Given the description of an element on the screen output the (x, y) to click on. 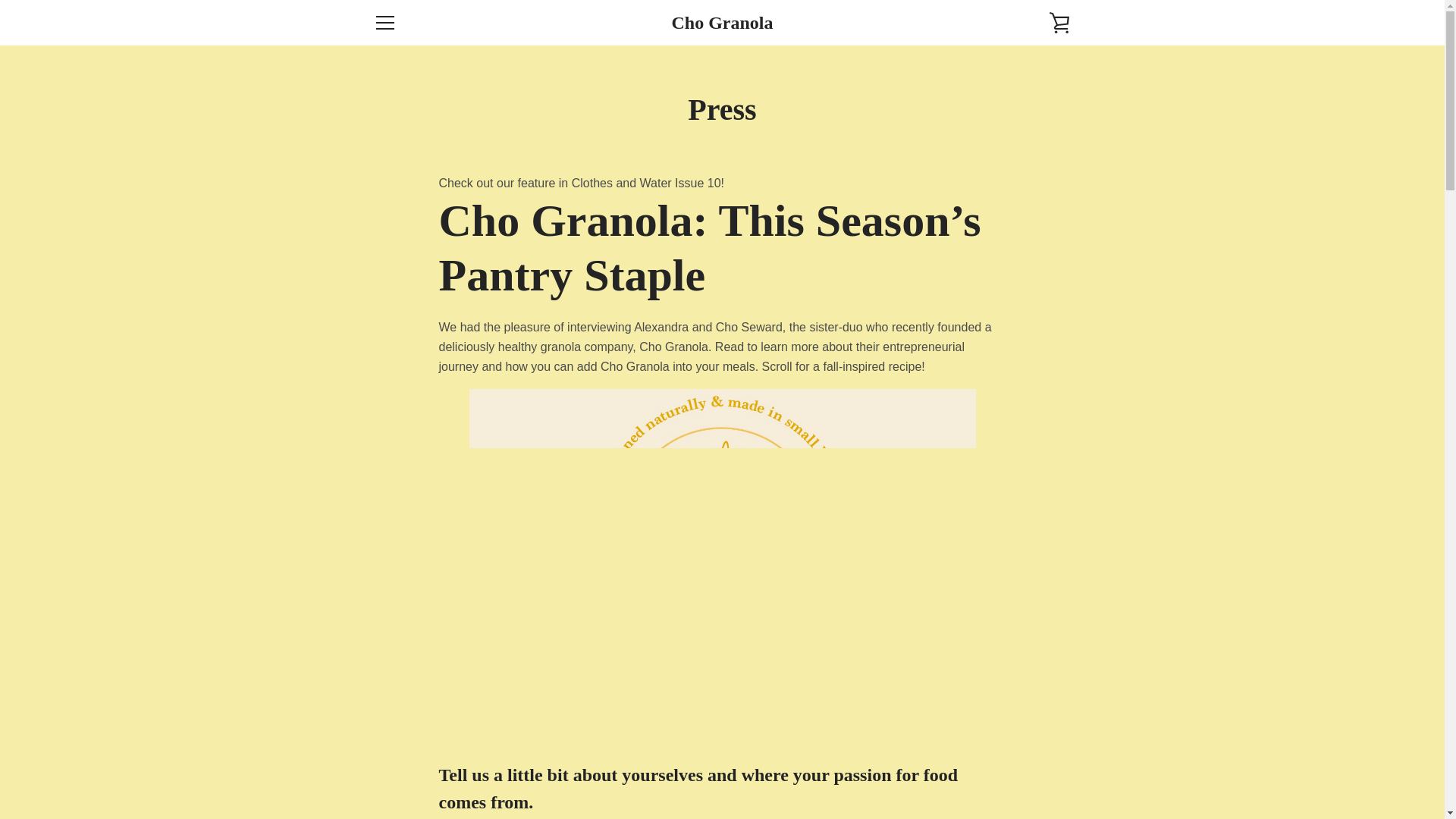
Shop Pay (1022, 778)
Discover (988, 755)
TERMS OF SERVICE (423, 674)
Visa (1057, 778)
MENU (384, 22)
American Express (883, 755)
Apple Pay (918, 755)
Cho Granola on Facebook (372, 765)
FAQ (383, 629)
Instagram (399, 765)
